Given the description of an element on the screen output the (x, y) to click on. 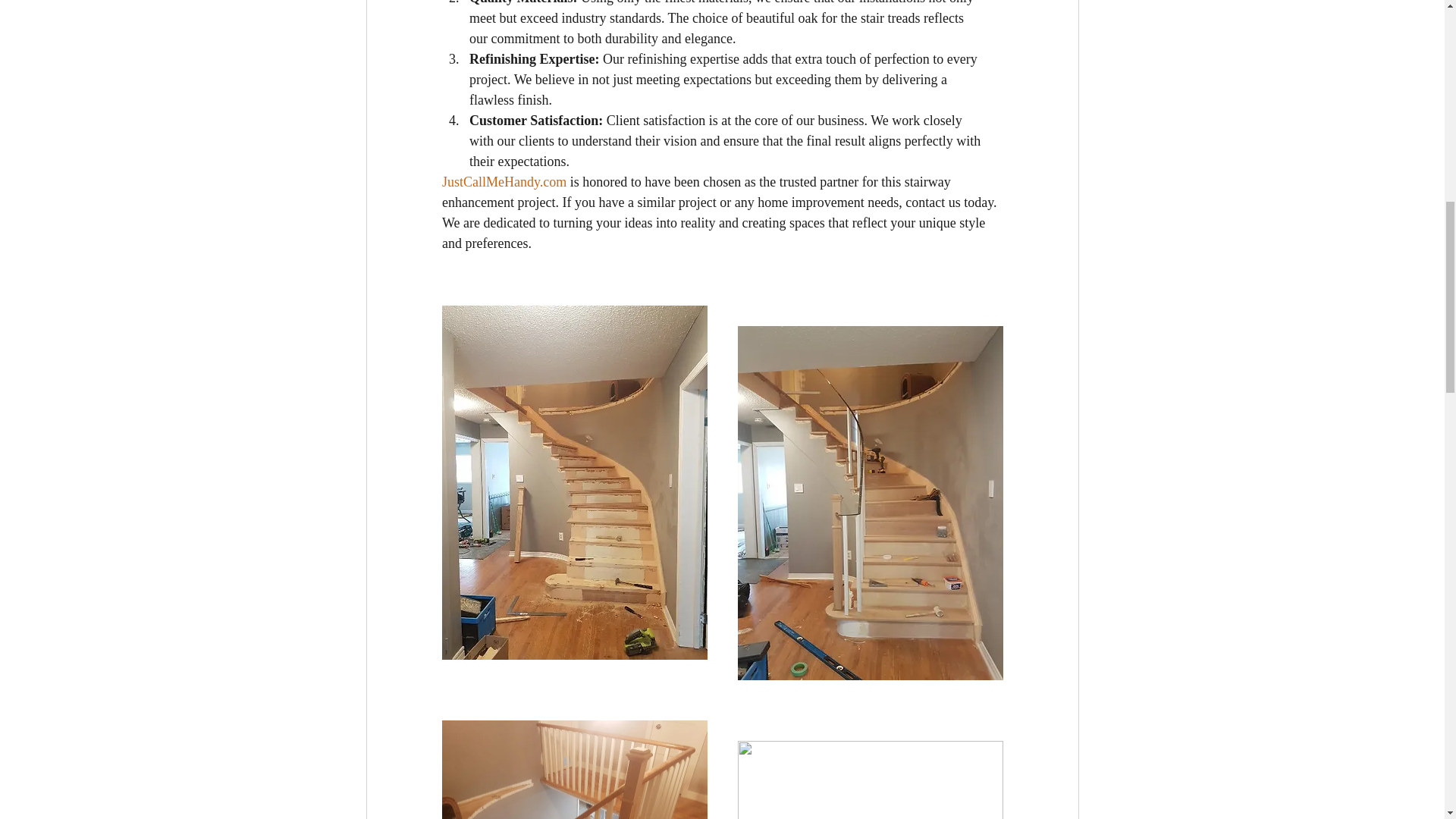
JustCallMeHandy.com (503, 181)
